Given the description of an element on the screen output the (x, y) to click on. 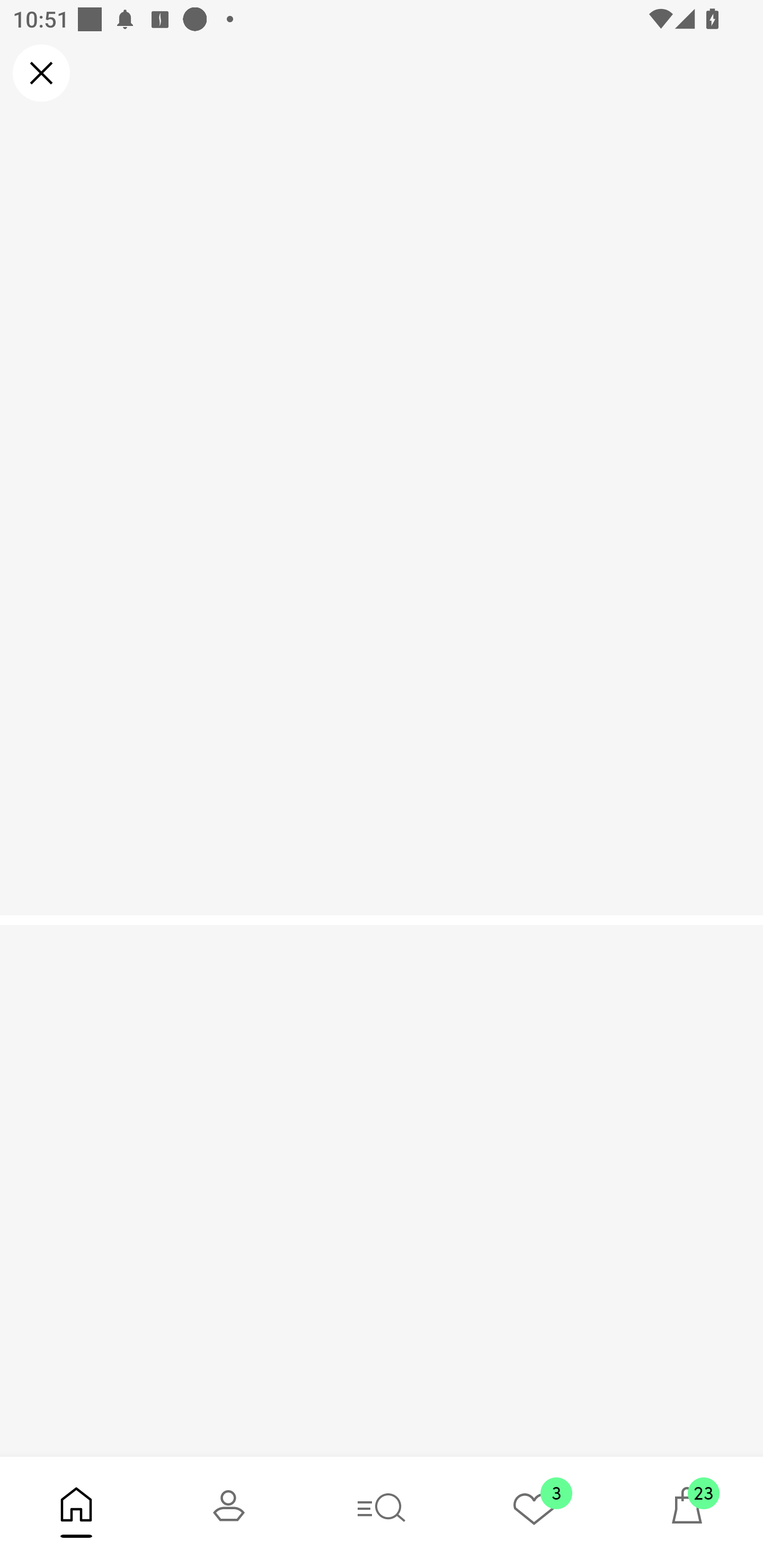
3 (533, 1512)
23 (686, 1512)
